Given the description of an element on the screen output the (x, y) to click on. 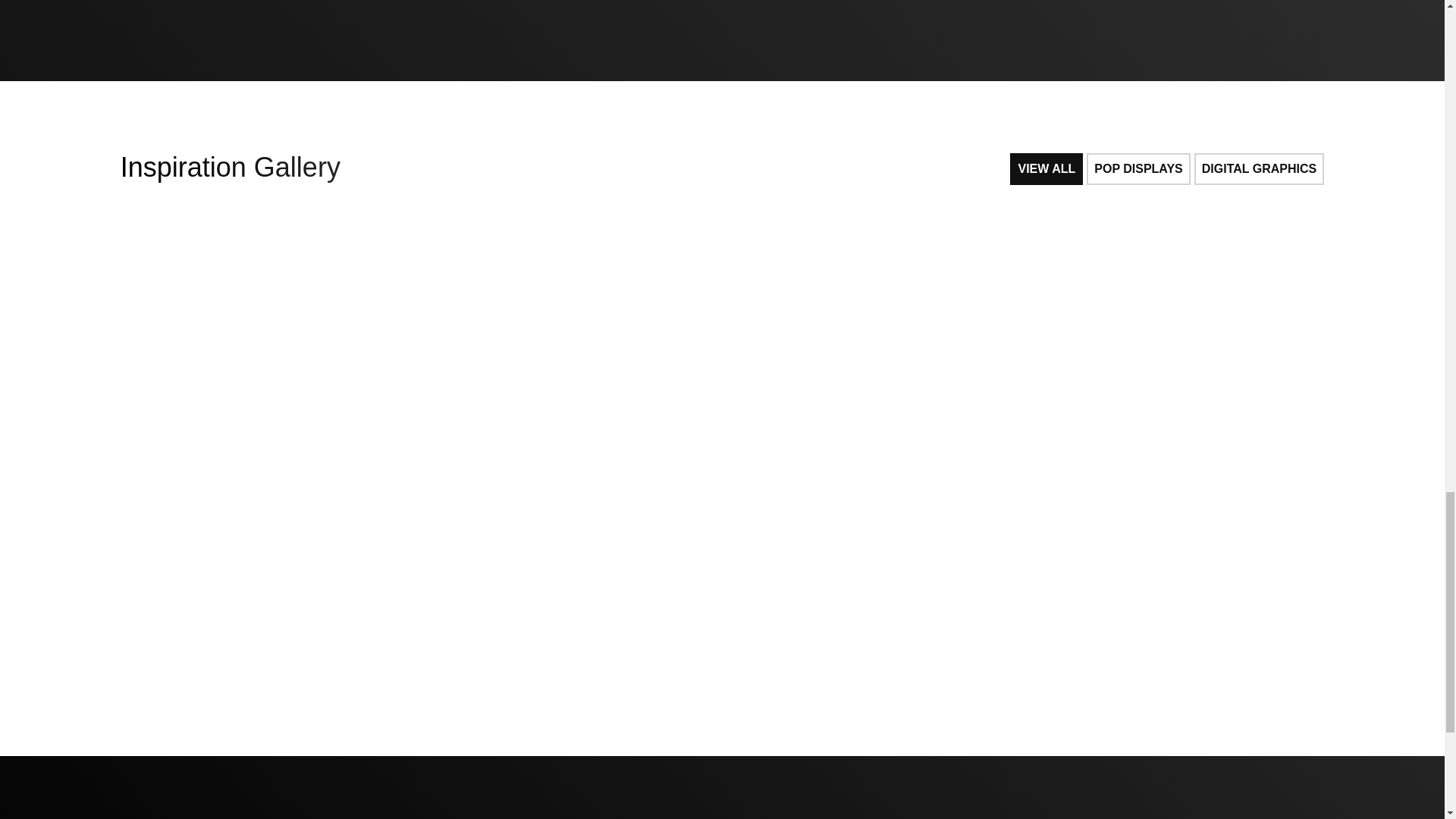
DIGITAL GRAPHICS (1258, 169)
POP DISPLAYS (1138, 169)
VIEW ALL (1046, 169)
